Given the description of an element on the screen output the (x, y) to click on. 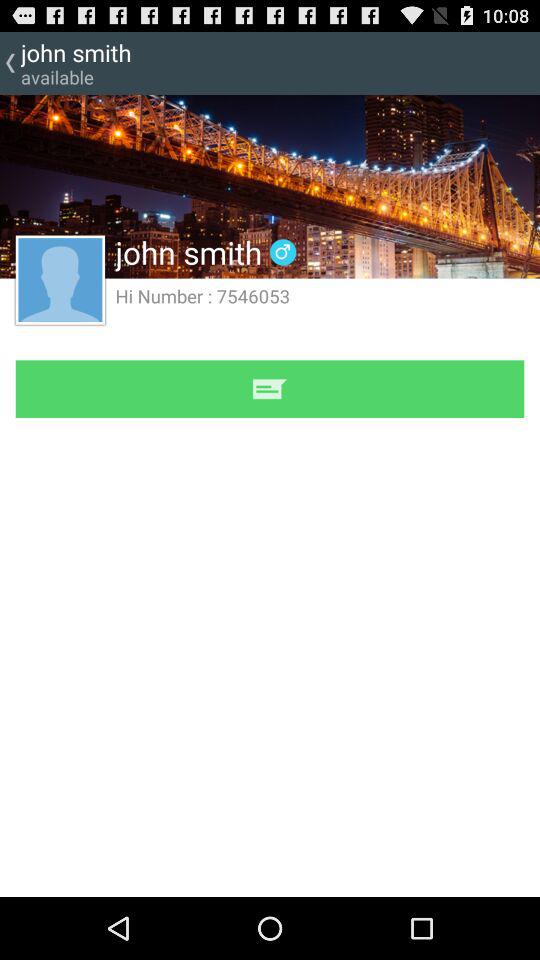
launch icon above hi number : 7546053 app (282, 251)
